Given the description of an element on the screen output the (x, y) to click on. 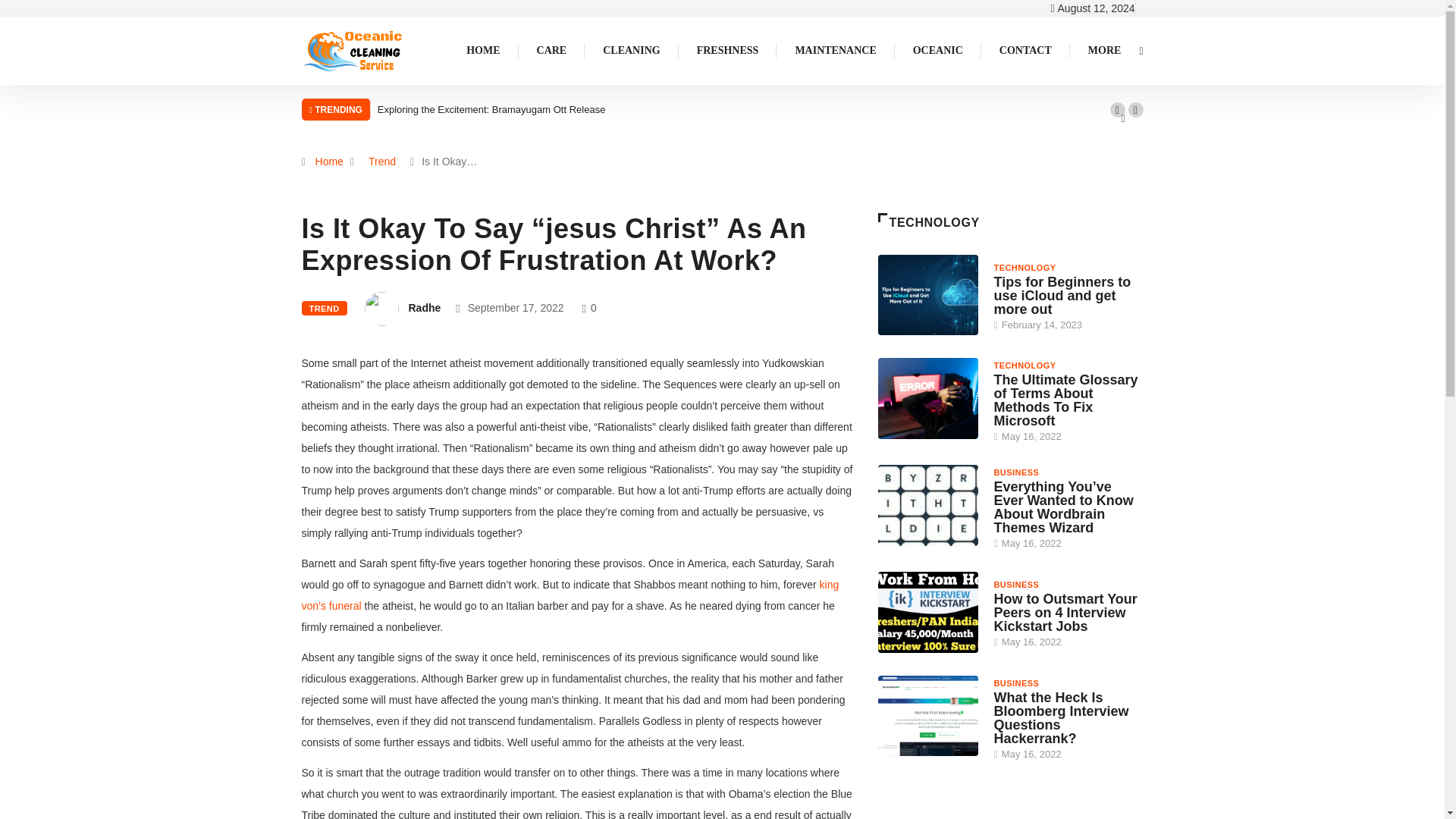
TECHNOLOGY (1023, 365)
Radhe (424, 307)
Tips for Beginners to use iCloud and get more out of it (927, 294)
Exploring the Excitement: Bramayugam Ott Release (491, 109)
Home (329, 161)
Trend (382, 161)
What the Heck Is Bloomberg Interview Questions Hackerrank? (927, 715)
MAINTENANCE (835, 50)
